Given the description of an element on the screen output the (x, y) to click on. 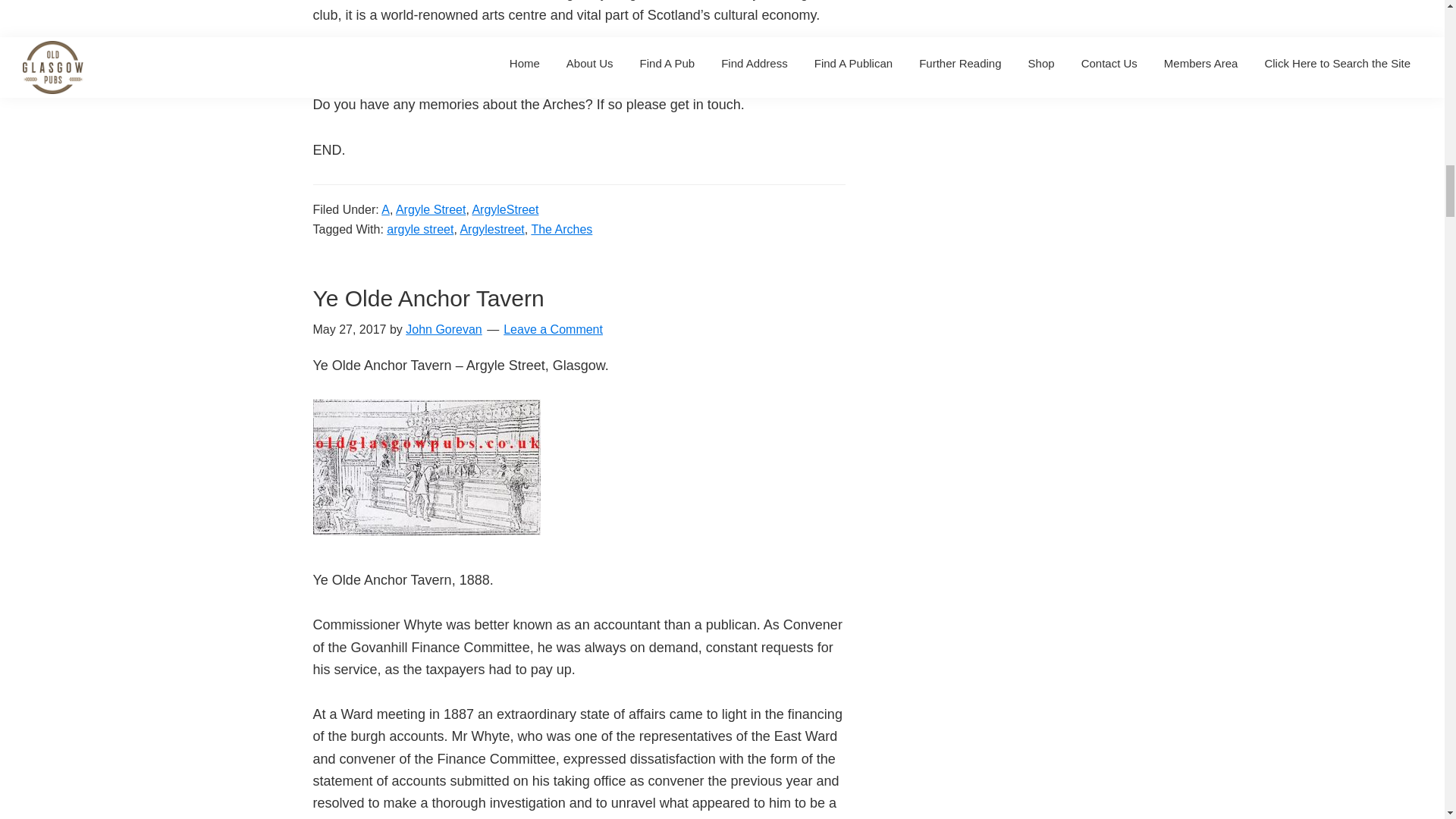
John Gorevan (443, 328)
argyle street (419, 228)
Leave a Comment (552, 328)
The Arches (561, 228)
Argyle Street (430, 209)
ArgyleStreet (504, 209)
Ye Olde Anchor Tavern (428, 298)
Argylestreet (492, 228)
